Given the description of an element on the screen output the (x, y) to click on. 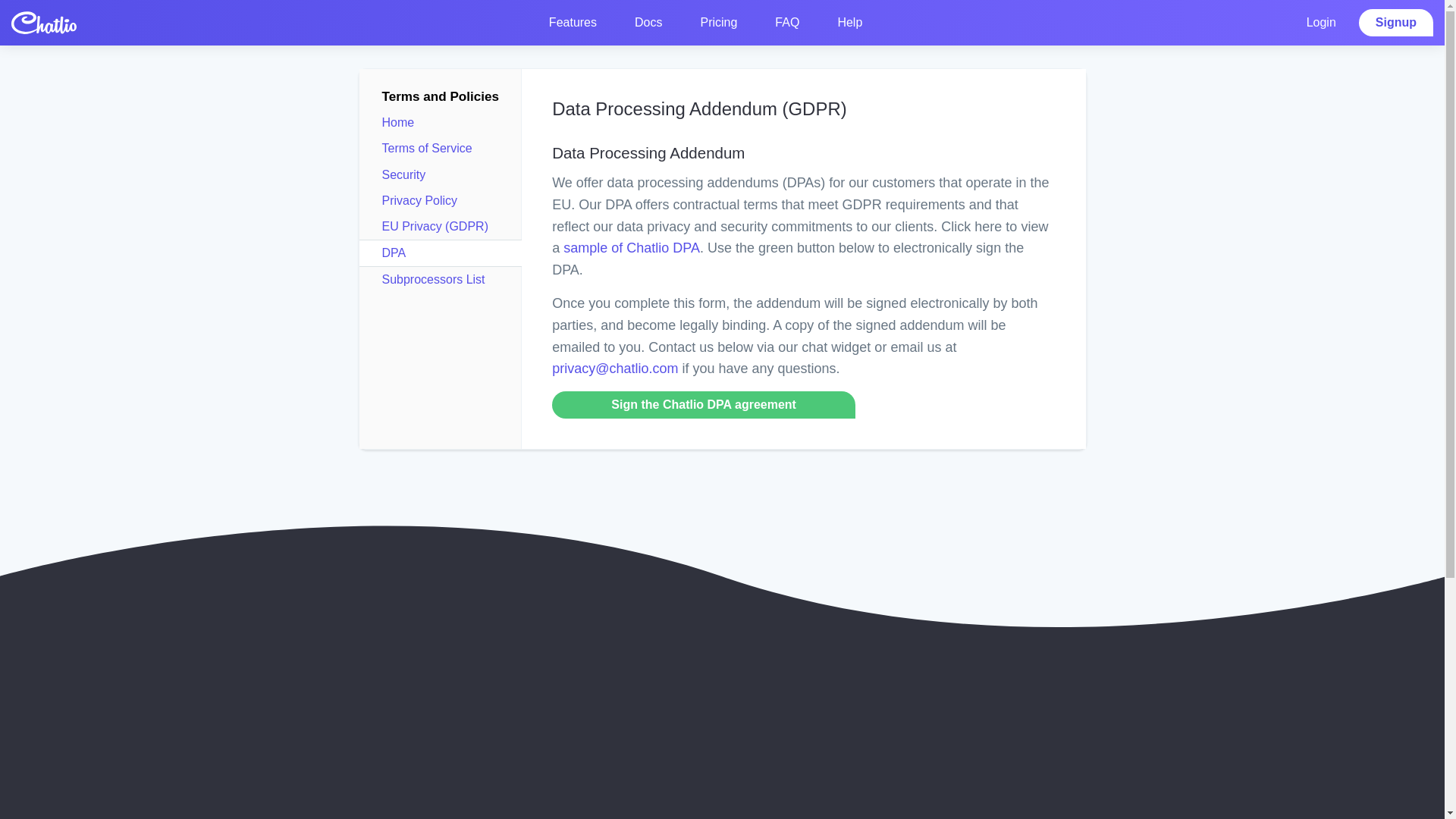
Privacy Policy (419, 200)
Subprocessors List (432, 278)
Login (1321, 22)
Terms of Service (426, 147)
Sign the Chatlio DPA agreement (703, 404)
Docs (648, 22)
Signup (1395, 22)
DPA (393, 252)
sample of Chatlio DPA (631, 247)
Pricing (718, 22)
